Given the description of an element on the screen output the (x, y) to click on. 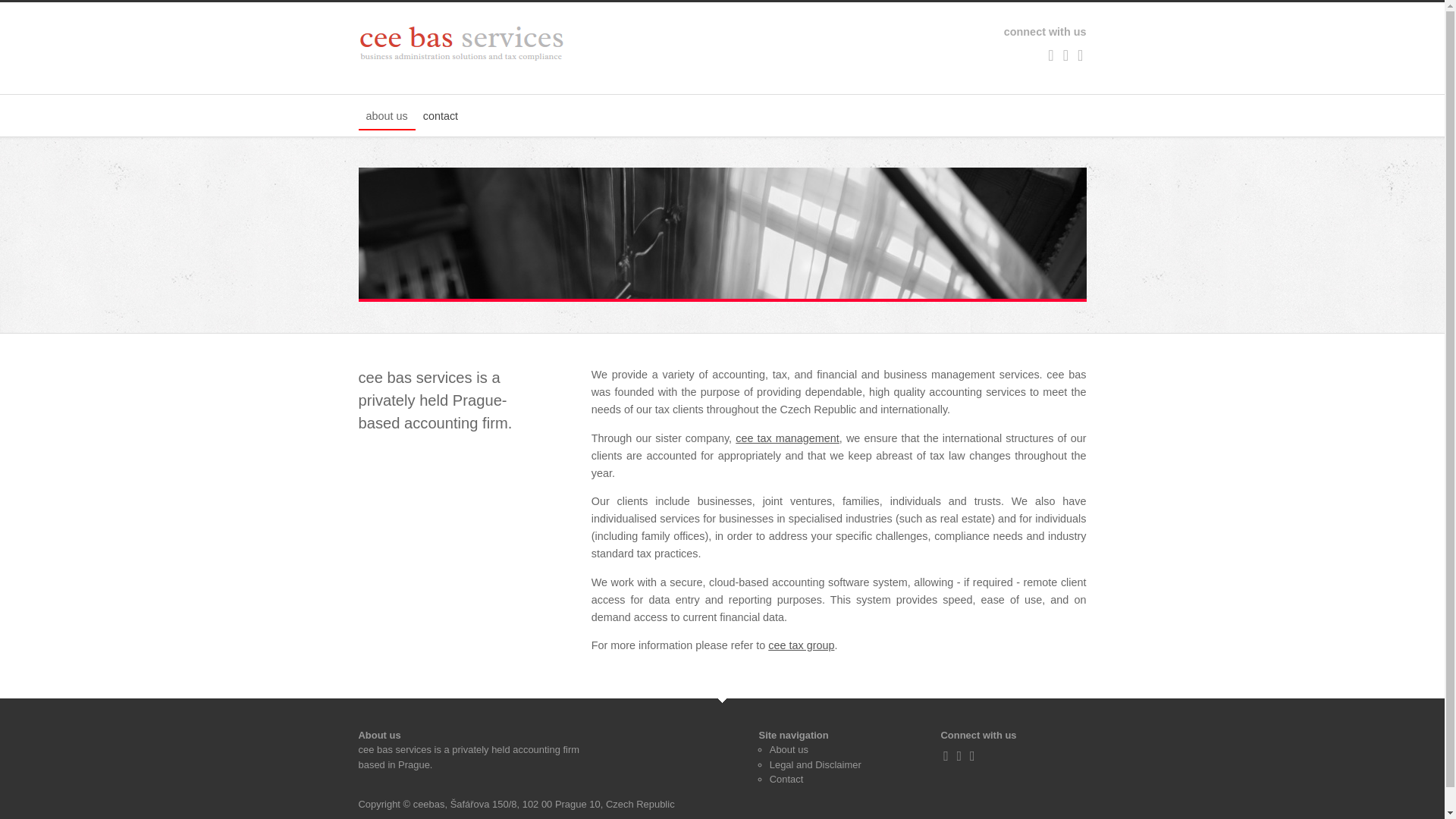
About us (789, 749)
cee tax management (787, 438)
contact (439, 116)
about us (386, 116)
Legal and Disclaimer (815, 764)
cee tax group (801, 645)
Contact (786, 778)
